Given the description of an element on the screen output the (x, y) to click on. 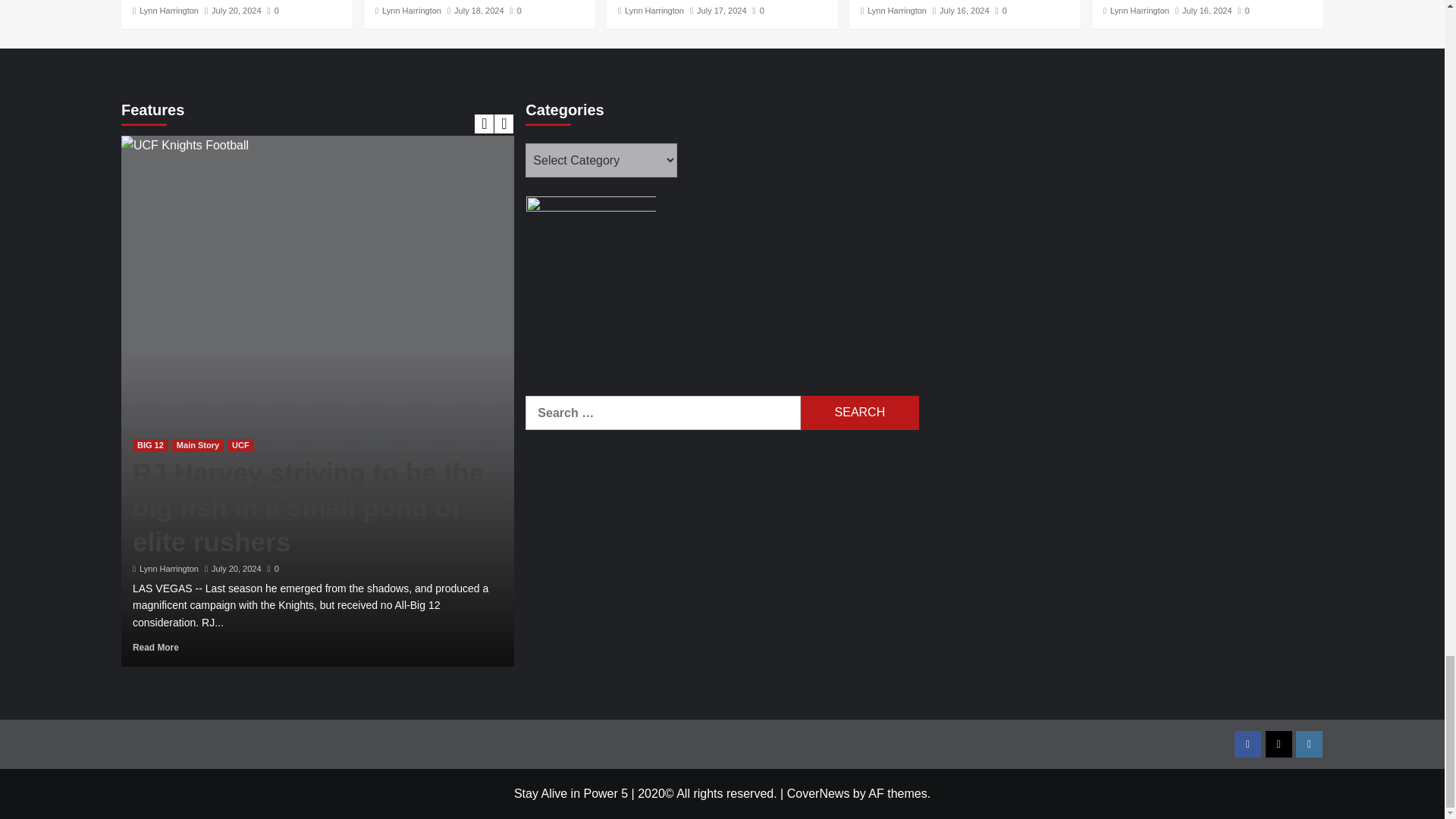
Search (859, 412)
Search (859, 412)
